Given the description of an element on the screen output the (x, y) to click on. 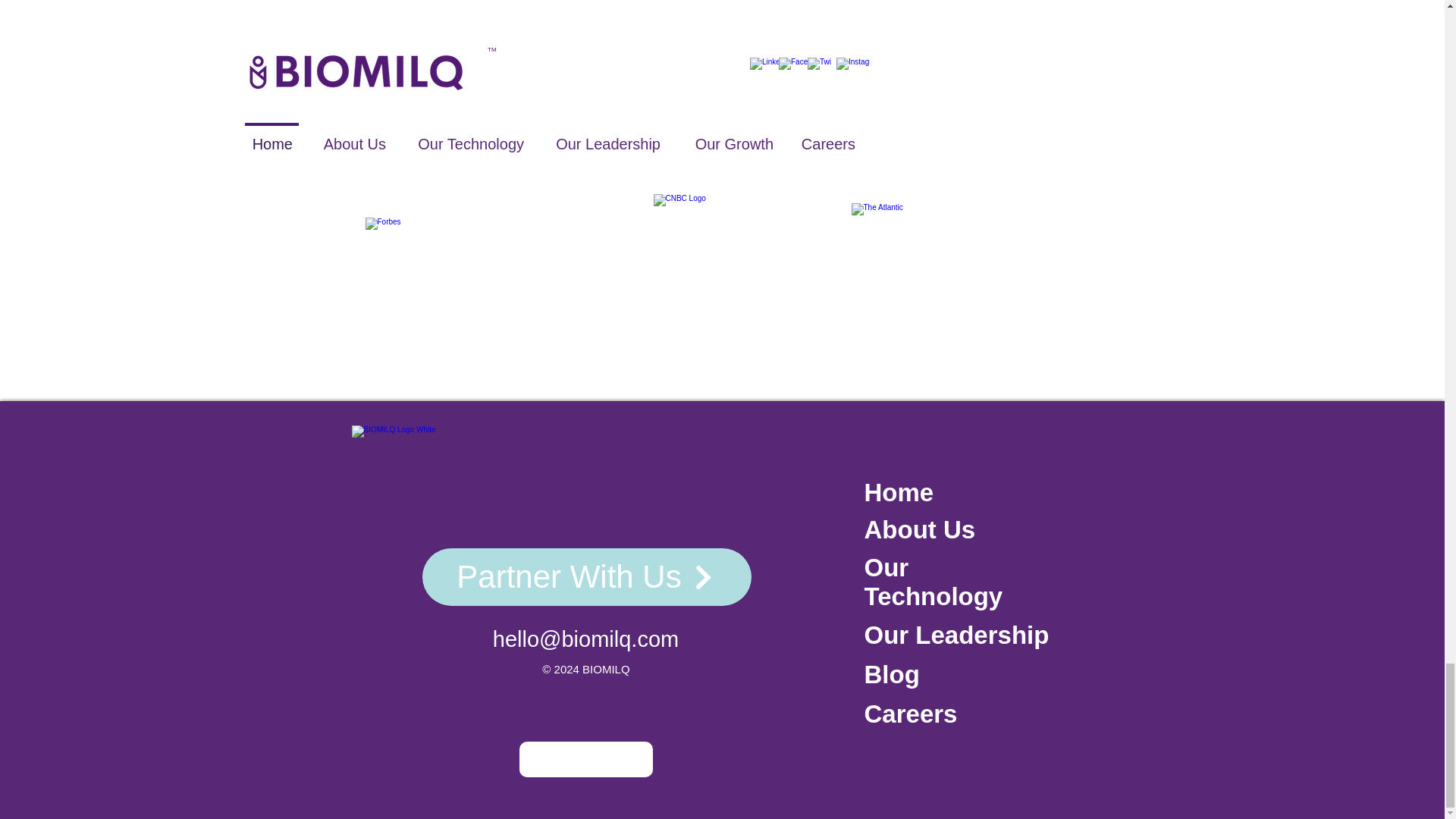
About Us (919, 529)
Careers (911, 714)
Our Leadership (956, 635)
Partner With Us (586, 576)
Home (899, 492)
Our Technology (933, 581)
Blog  (895, 674)
